Given the description of an element on the screen output the (x, y) to click on. 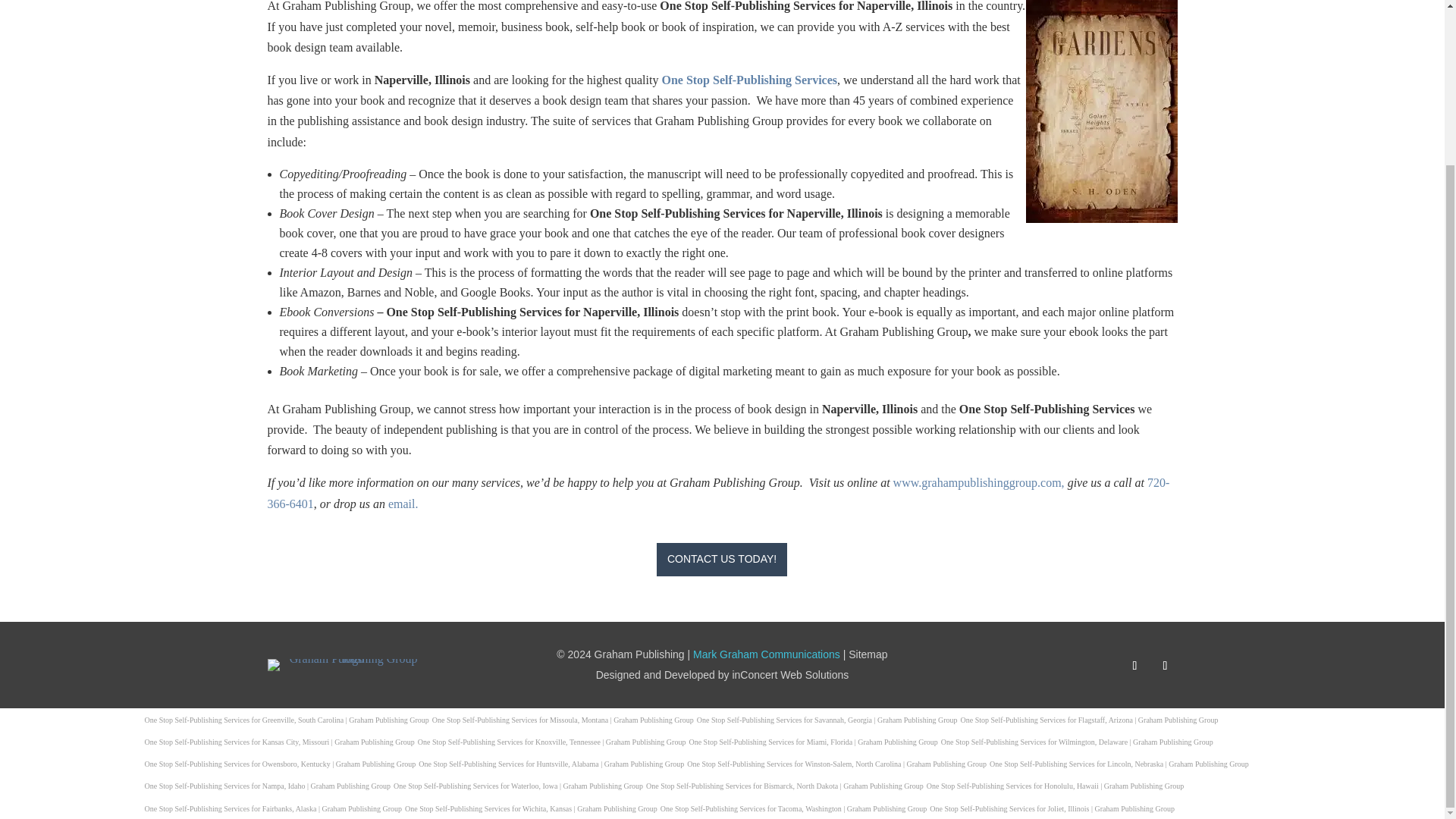
www.grahampublishinggroup.com, (978, 481)
Follow on LinkedIn (1134, 665)
Follow on X (1164, 665)
One Stop Self-Publishing Services (749, 79)
